Given the description of an element on the screen output the (x, y) to click on. 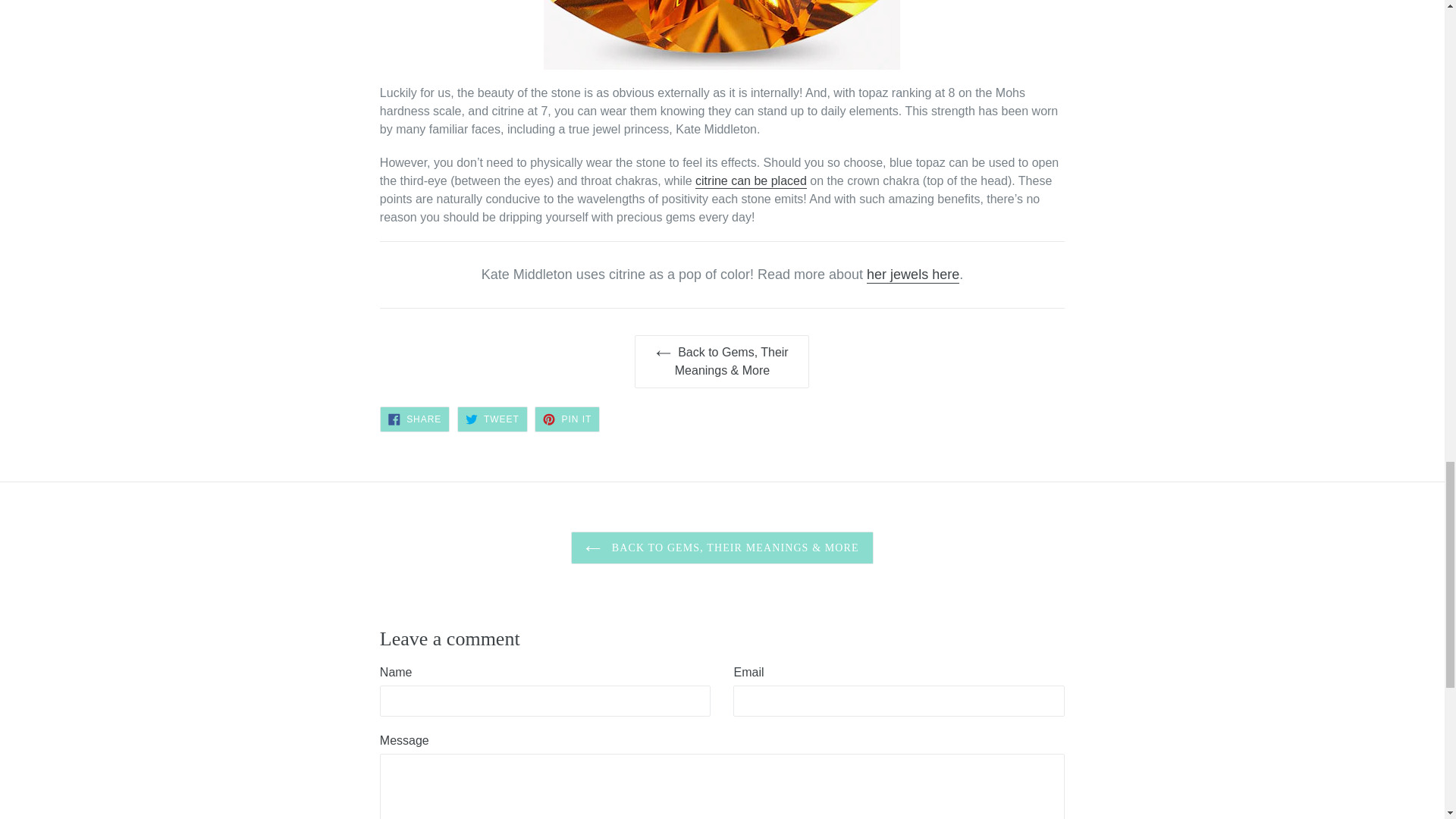
Pin on Pinterest (566, 419)
Tweet on Twitter (492, 419)
ate-middleton-royal-style-modern-gemologist (912, 274)
citrine-history-lore-gia (750, 181)
Share on Facebook (414, 419)
